Given the description of an element on the screen output the (x, y) to click on. 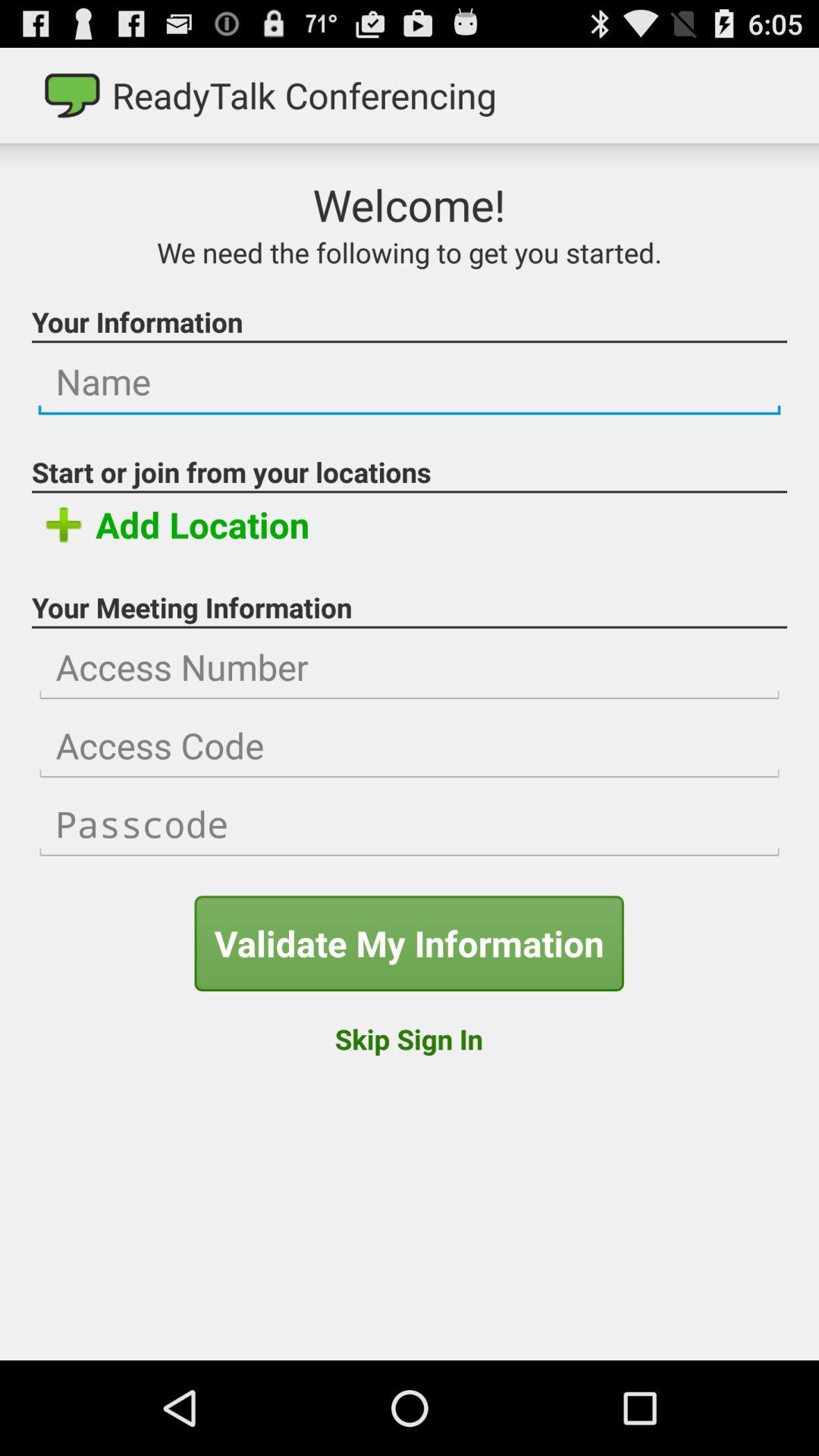
launch the app above the start or join item (409, 381)
